Given the description of an element on the screen output the (x, y) to click on. 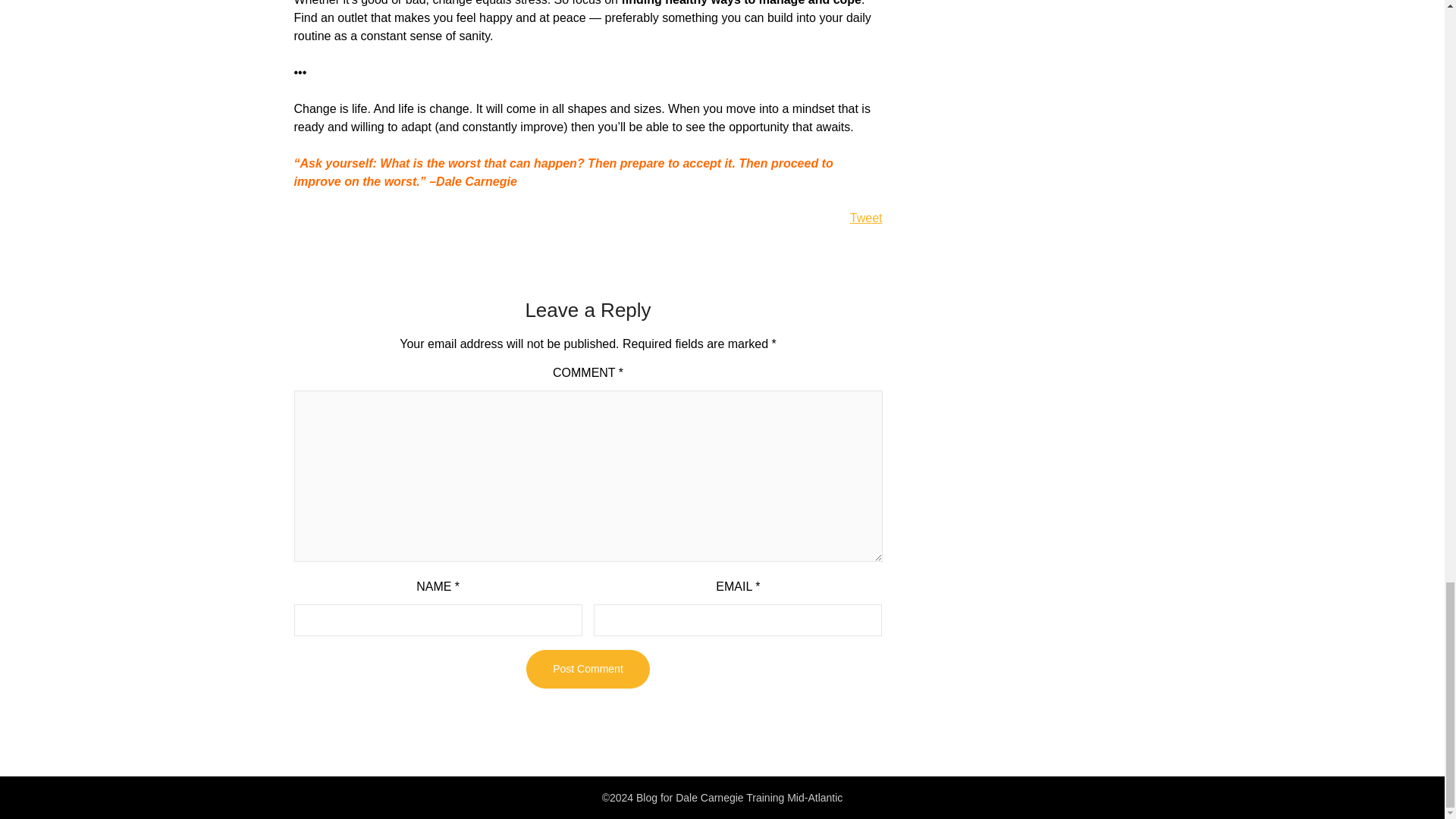
Post Comment (587, 669)
Post Comment (587, 669)
Tweet (866, 217)
